Given the description of an element on the screen output the (x, y) to click on. 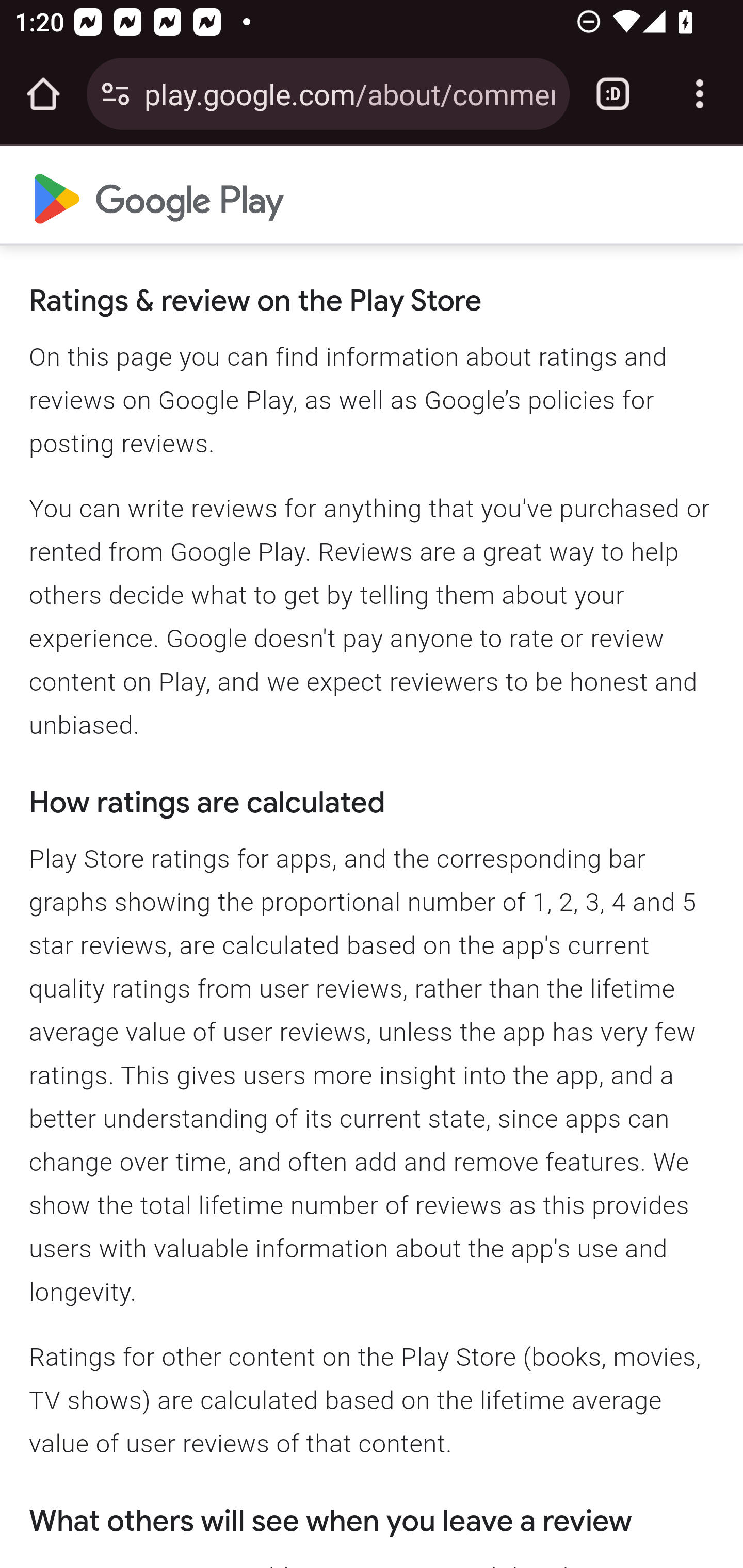
Open the home page (43, 93)
Connection is secure (115, 93)
Switch or close tabs (612, 93)
Customize and control Google Chrome (699, 93)
play.google.com/about/comment-posting-policy/ (349, 92)
Google Play (158, 195)
